Given the description of an element on the screen output the (x, y) to click on. 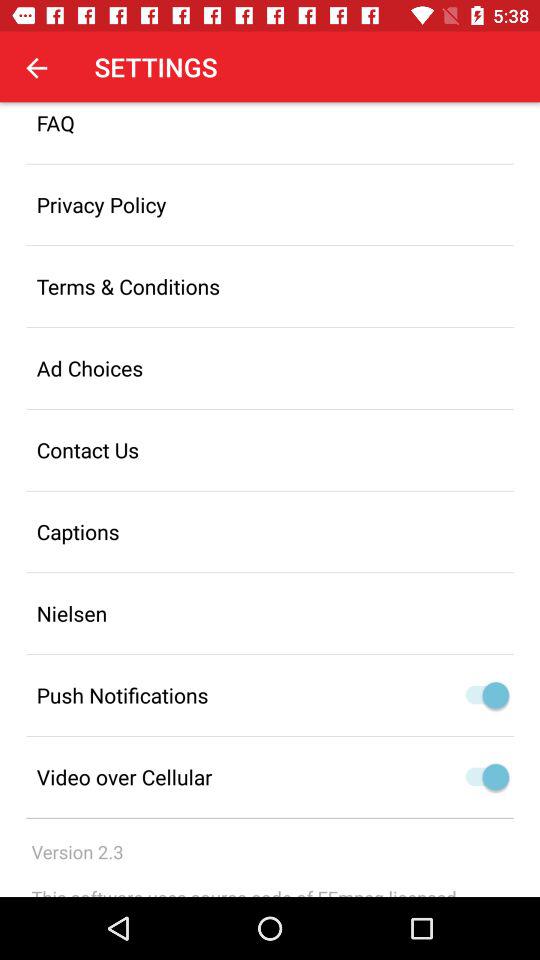
toggle video over cellular settings option (482, 777)
